Given the description of an element on the screen output the (x, y) to click on. 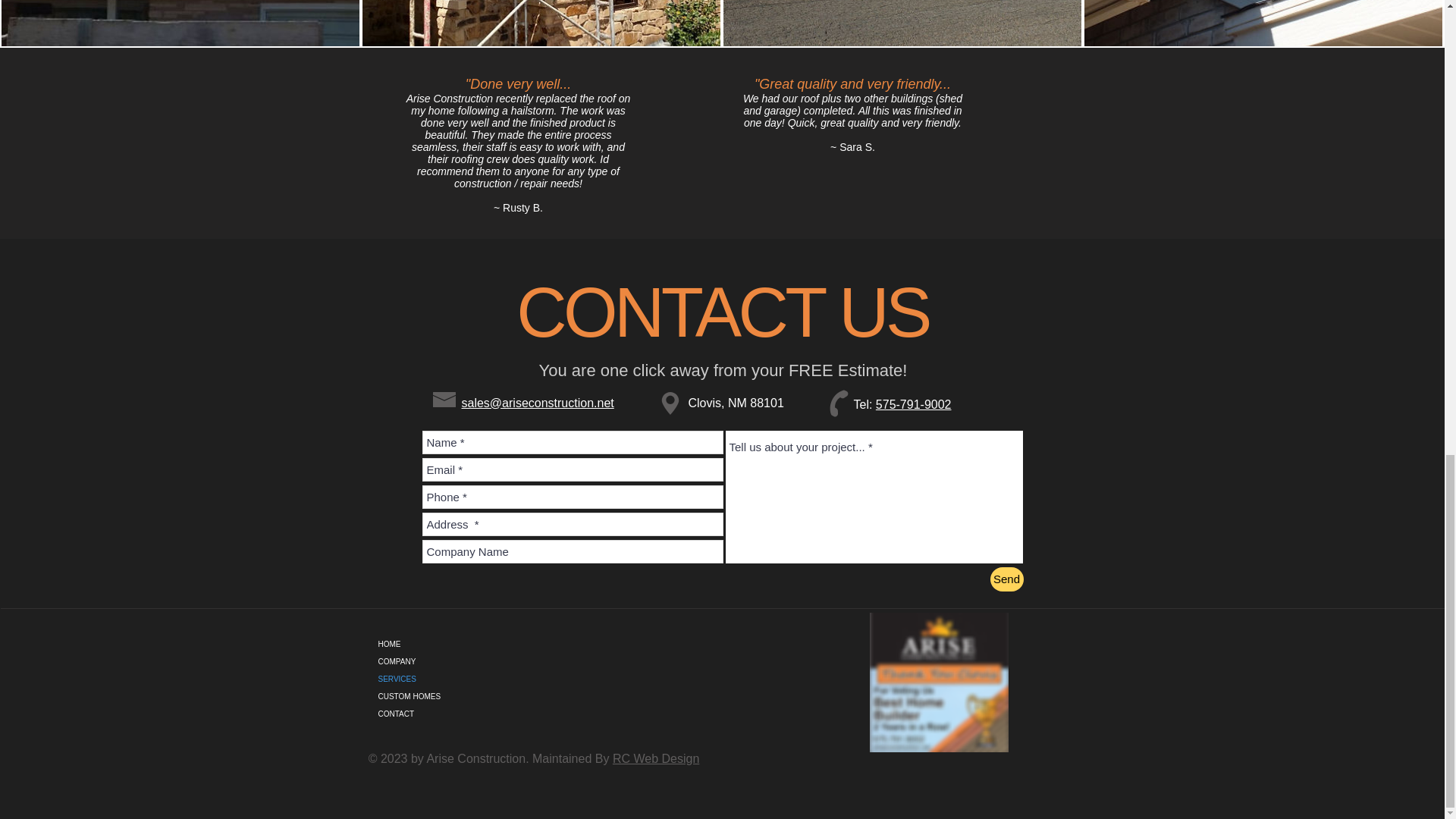
CONTACT (495, 713)
SERVICES (495, 678)
575-791-9002 (914, 404)
Send (1006, 579)
COMPANY (495, 661)
CUSTOM HOMES (495, 696)
RC Web Design (655, 758)
HOME (495, 643)
